Given the description of an element on the screen output the (x, y) to click on. 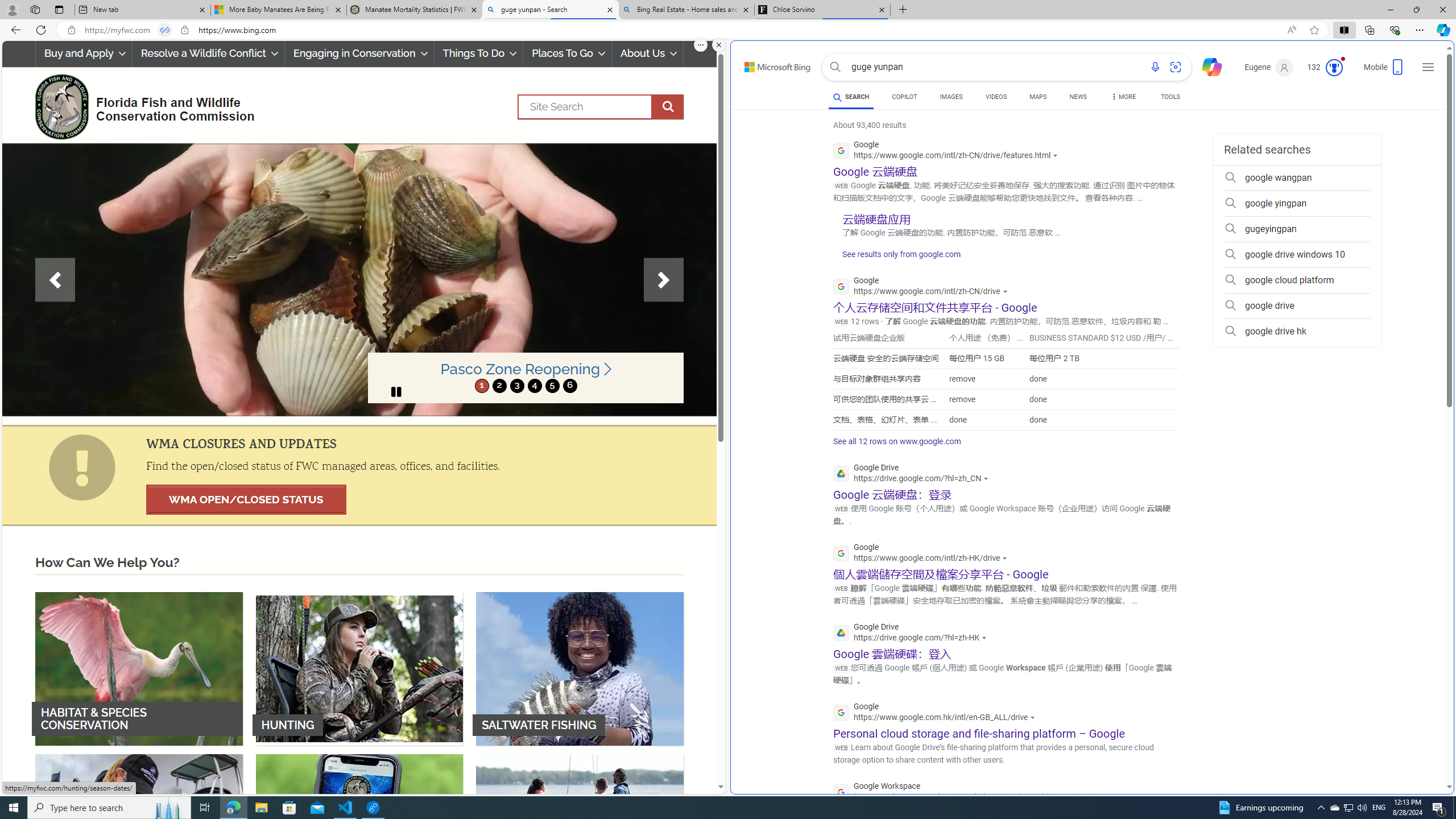
Resolve a Wildlife Conflict (208, 53)
move to slide 4 (534, 385)
execute site search (667, 106)
google drive windows 10 (1297, 254)
Places To Go (566, 53)
Close tab (881, 9)
AutomationID: mfa_root (1406, 752)
Search using voice (1154, 66)
Places To Go (566, 53)
Previous (54, 279)
Tabs in split screen (164, 29)
TOOLS (1171, 98)
SEARCH (850, 96)
